Given the description of an element on the screen output the (x, y) to click on. 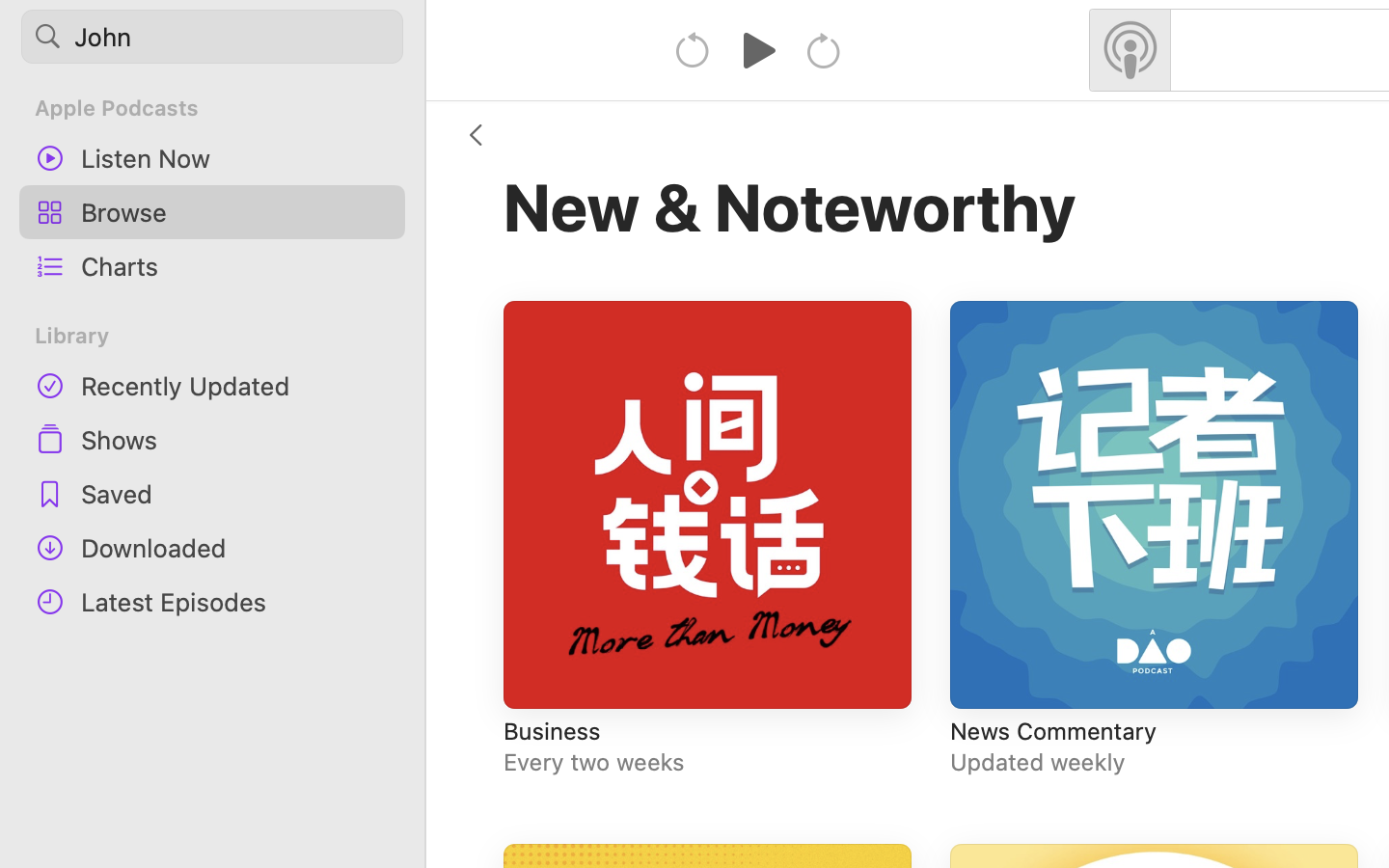
John Element type: AXTextField (212, 36)
